Given the description of an element on the screen output the (x, y) to click on. 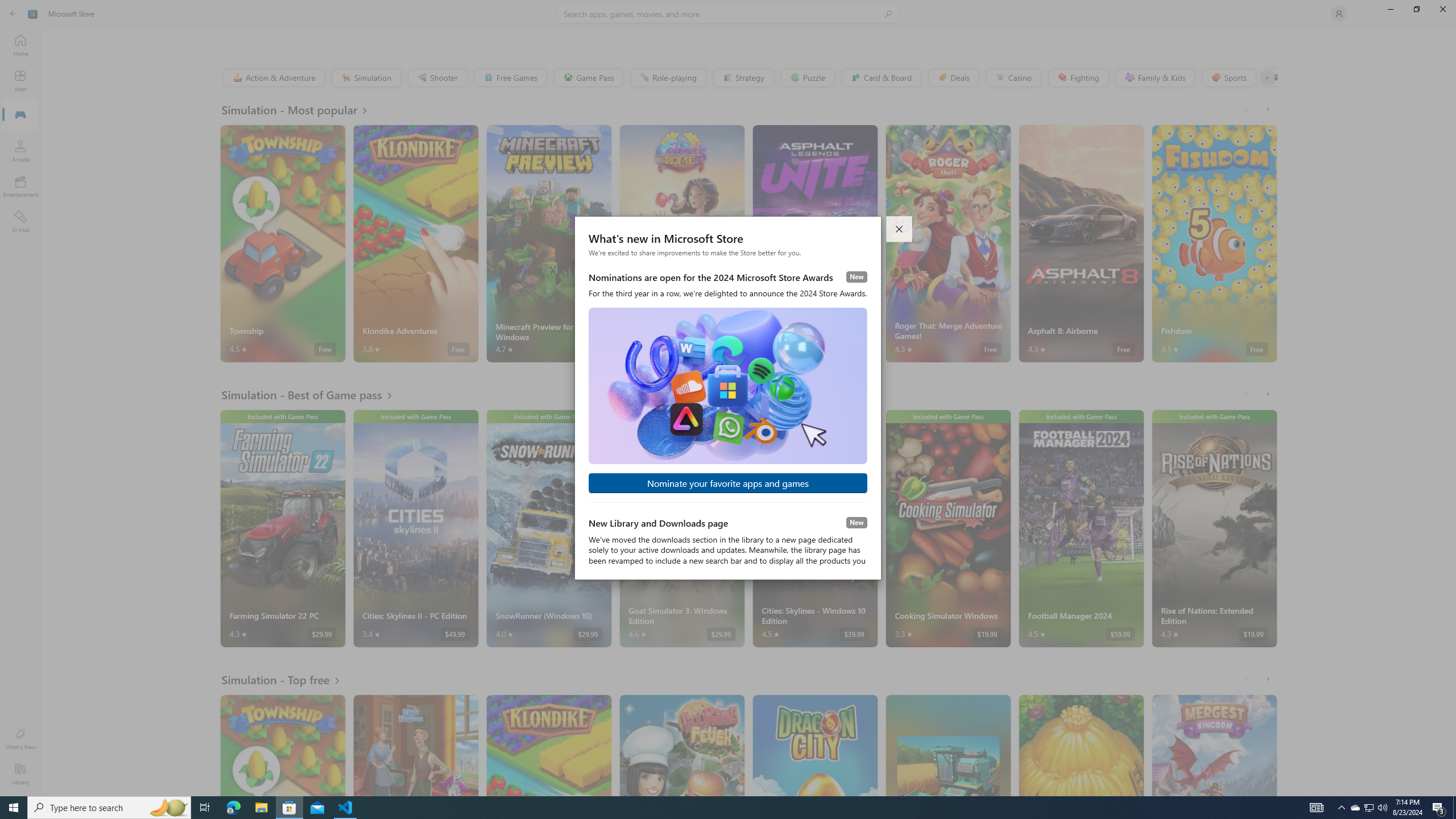
Family & Kids (1154, 77)
Class: Button (1266, 77)
Fighting (1078, 77)
Role-playing (668, 77)
Sports (1228, 77)
Casino (1013, 77)
Simulation (365, 77)
